Given the description of an element on the screen output the (x, y) to click on. 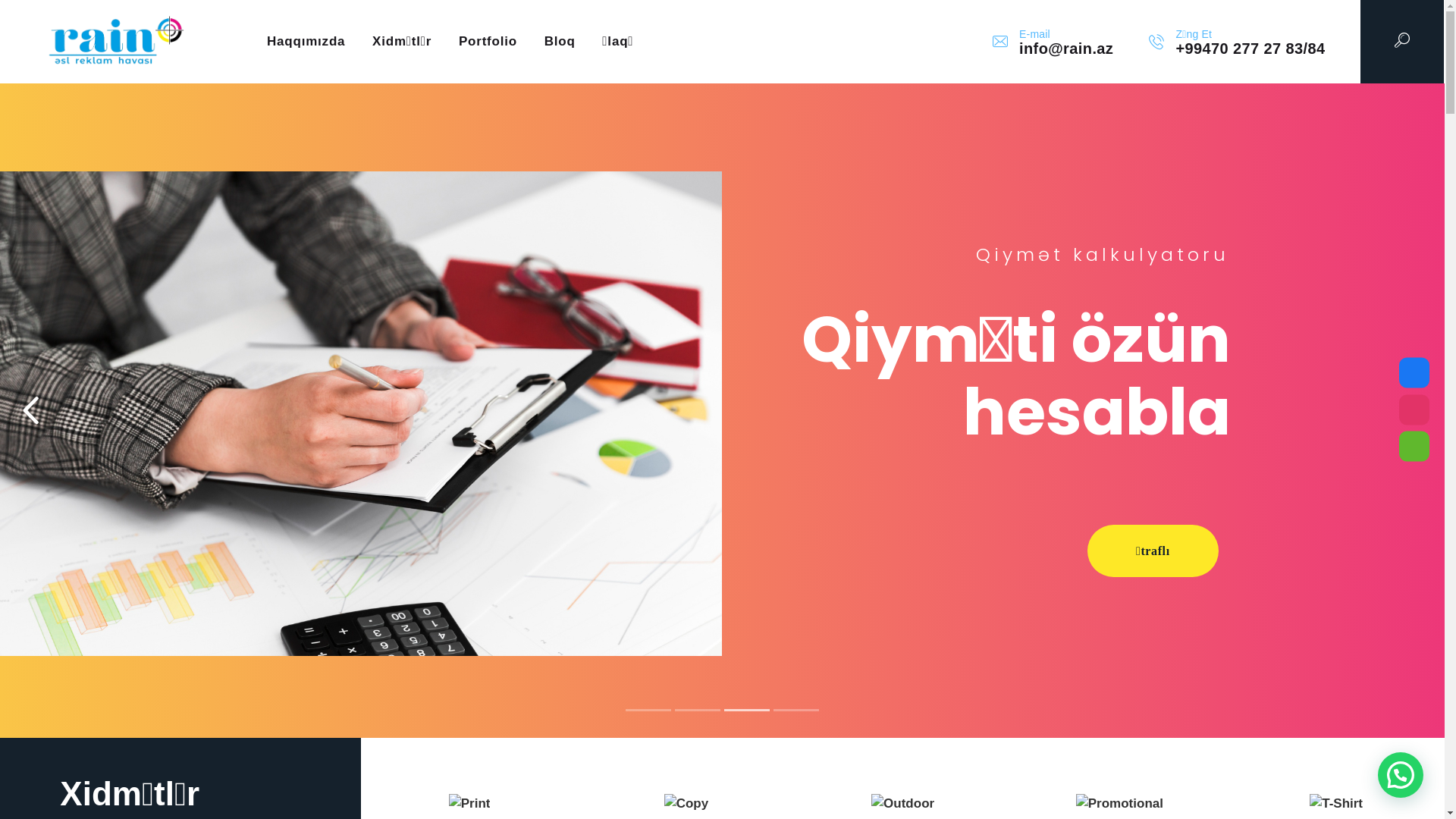
E-mail
info@rain.az Element type: text (1052, 41)
Portfolio Element type: text (487, 41)
Facebook Element type: hover (1414, 372)
Instagram Element type: hover (1414, 409)
Bloq Element type: text (559, 41)
WhatsApp Element type: hover (1414, 445)
